Given the description of an element on the screen output the (x, y) to click on. 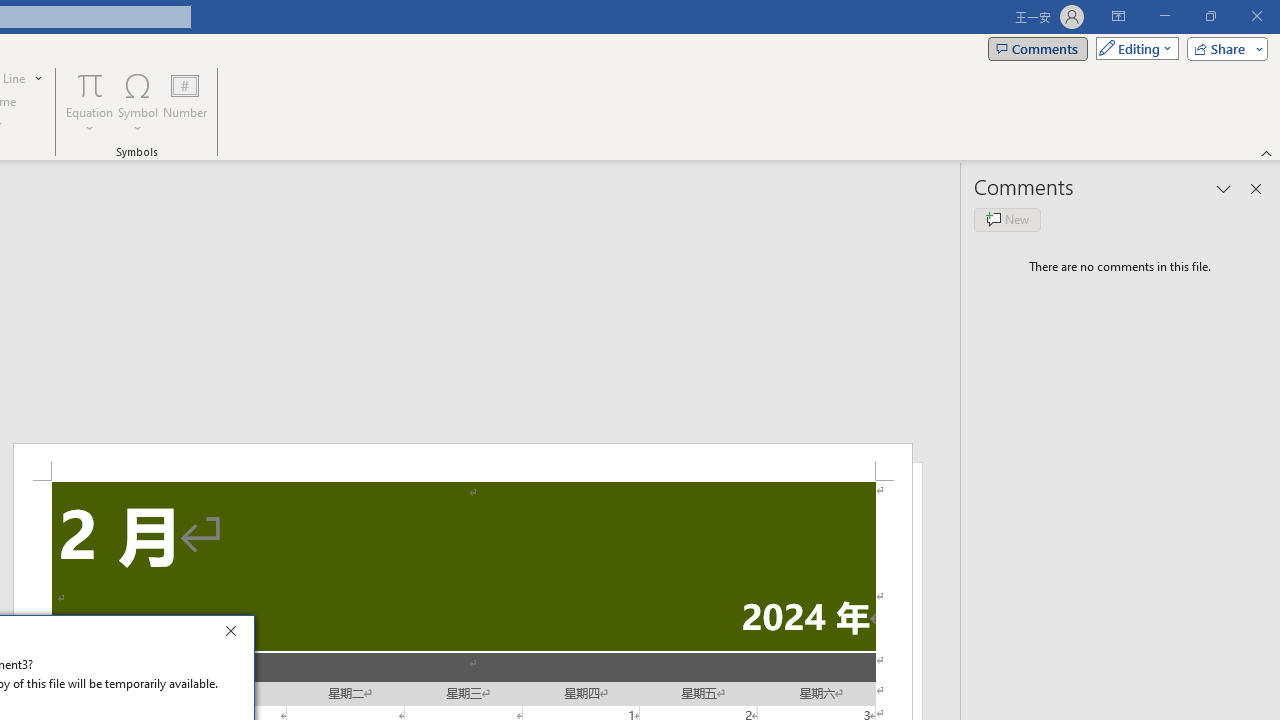
Equation (90, 102)
Mode (1133, 47)
New comment (1007, 219)
Symbol (138, 102)
